Given the description of an element on the screen output the (x, y) to click on. 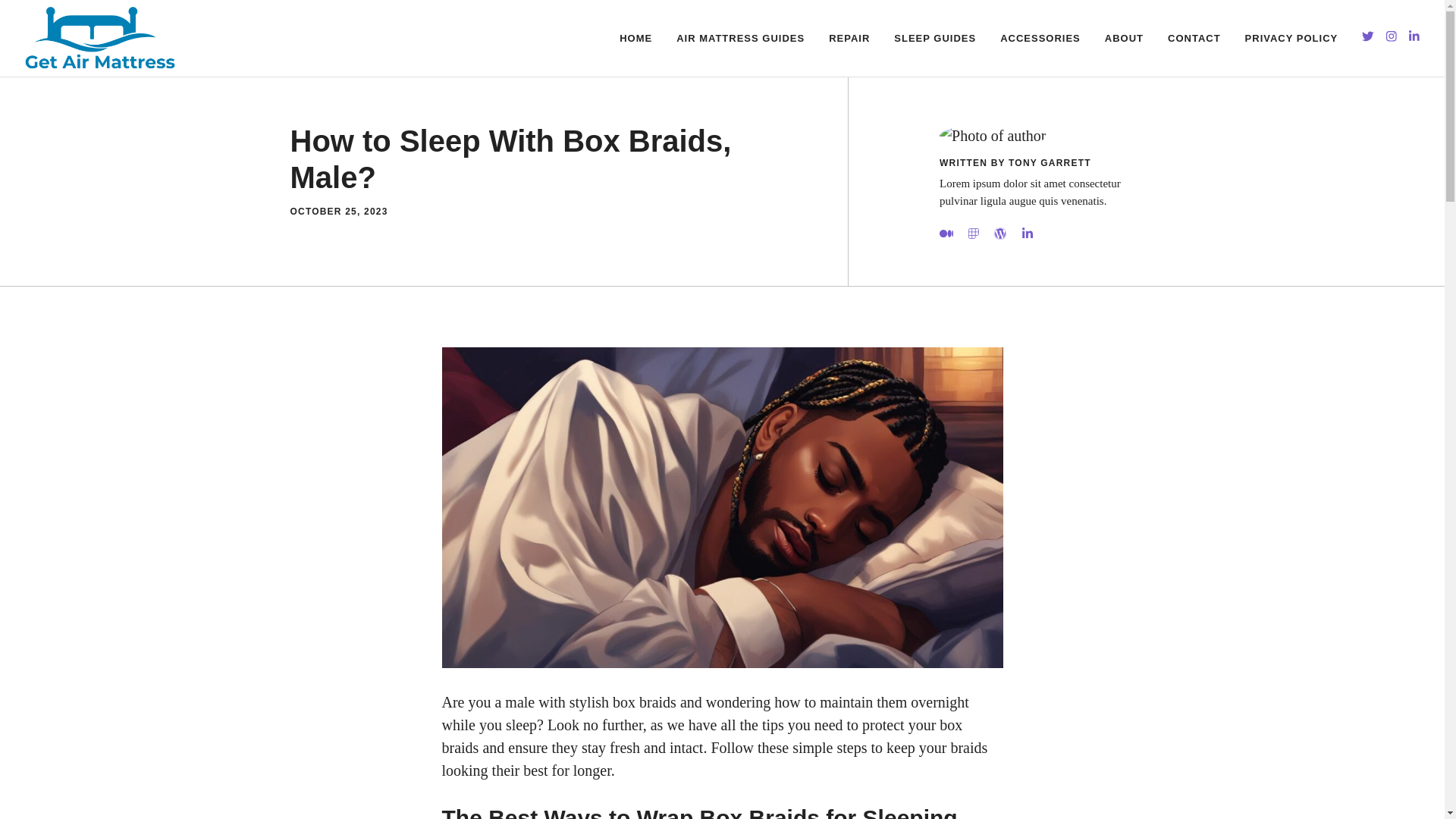
AIR MATTRESS GUIDES (739, 37)
ACCESSORIES (1040, 37)
SLEEP GUIDES (935, 37)
ABOUT (1124, 37)
CONTACT (1194, 37)
REPAIR (849, 37)
HOME (635, 37)
PRIVACY POLICY (1292, 37)
